Given the description of an element on the screen output the (x, y) to click on. 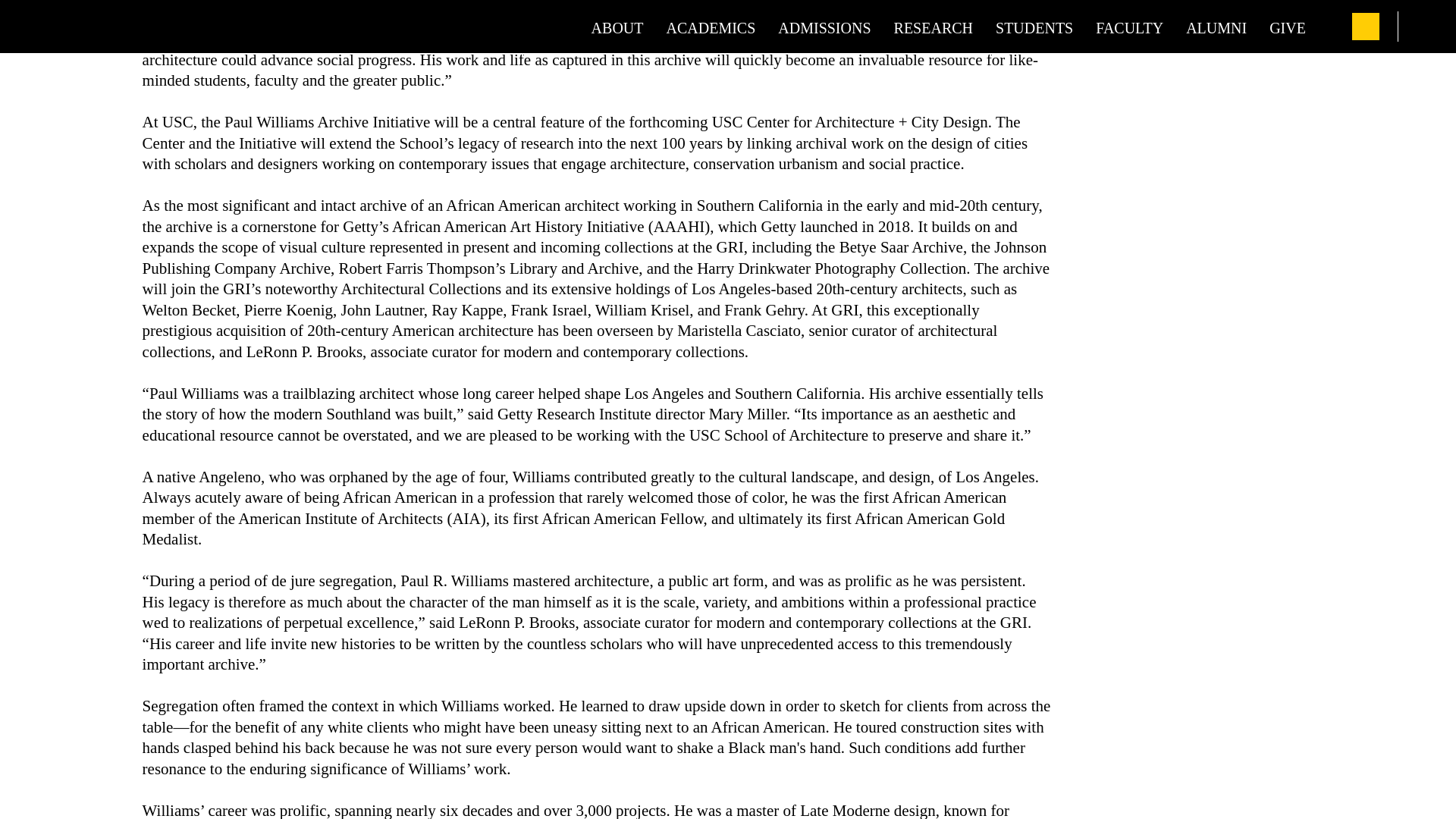
Instagram (1299, 1)
Subscribe to our mailing list (1194, 1)
YouTube (1334, 1)
Facebook (1222, 1)
Twitter (1264, 1)
